Given the description of an element on the screen output the (x, y) to click on. 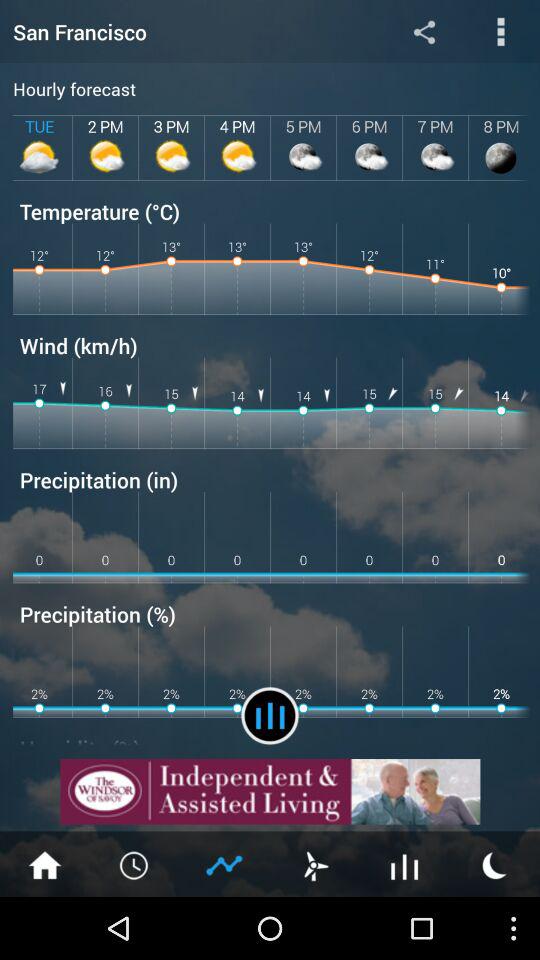
check reports (269, 715)
